Given the description of an element on the screen output the (x, y) to click on. 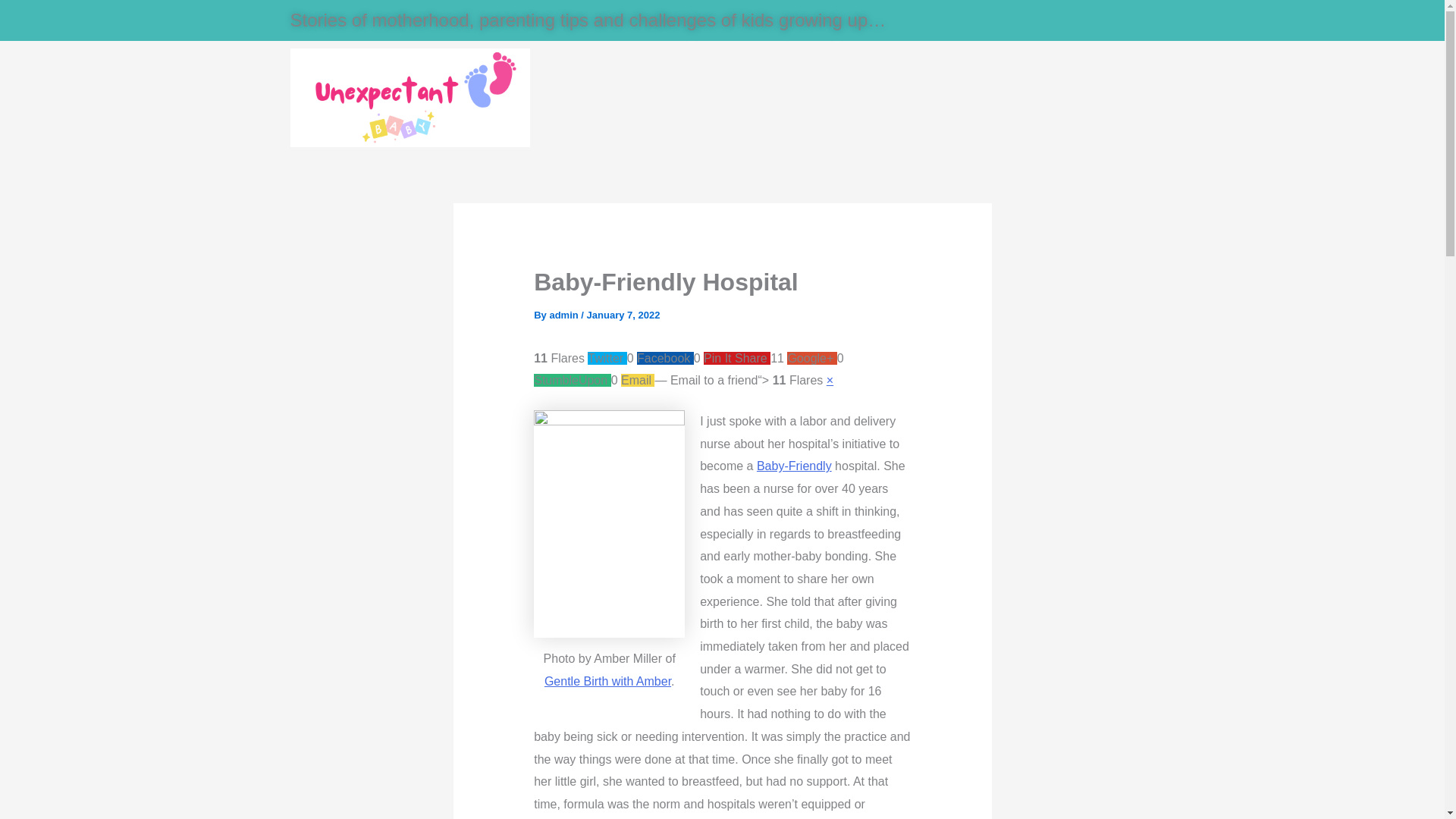
"Email (718, 379)
Baby-Friendly (794, 465)
Gentle Birth with Amber (607, 680)
View all posts by admin (564, 315)
admin (564, 315)
